Given the description of an element on the screen output the (x, y) to click on. 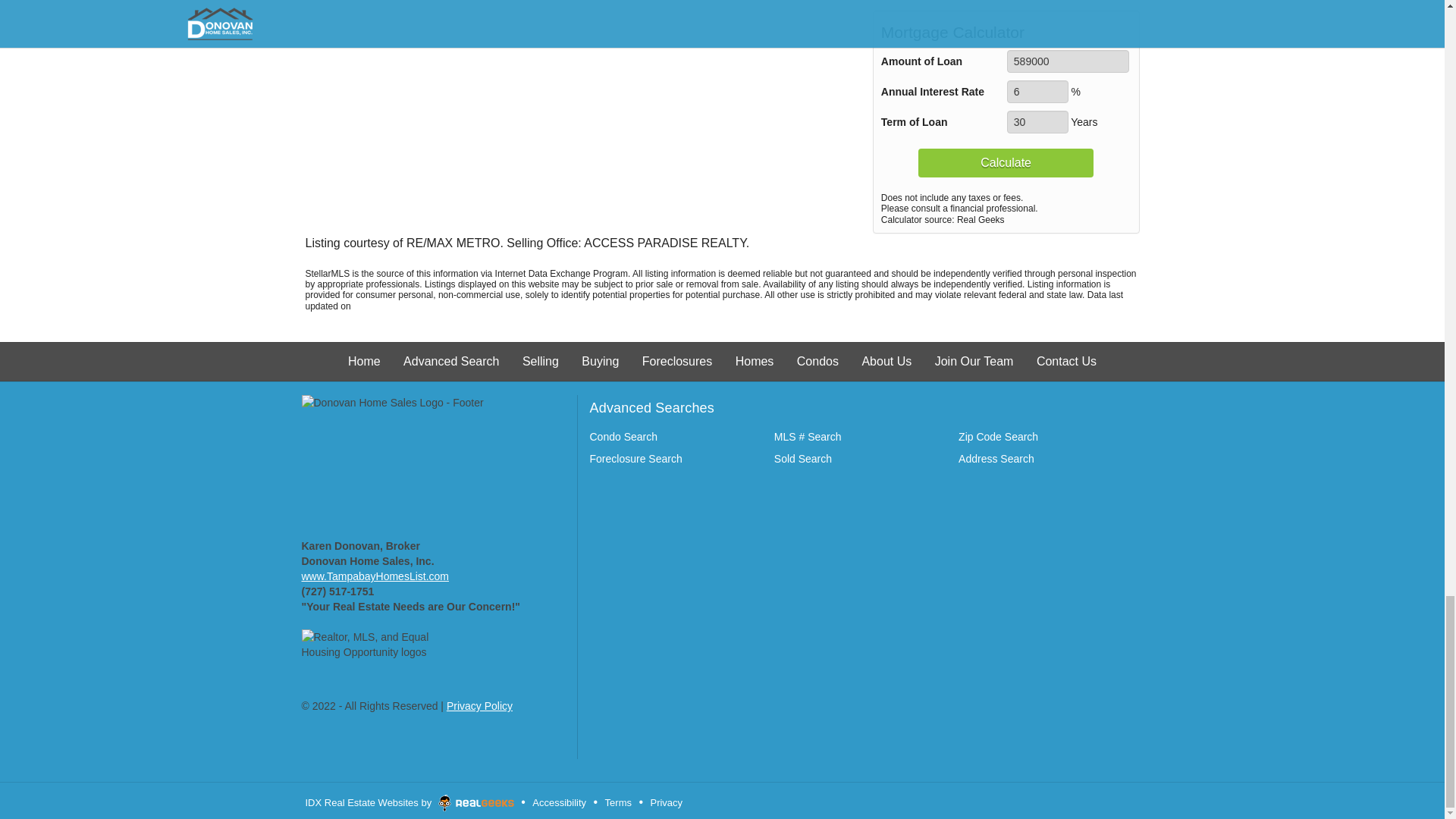
Privacy Policy For TampaBayHomesList.com (479, 705)
30 (1037, 121)
589000 (1068, 60)
6 (1037, 91)
